Given the description of an element on the screen output the (x, y) to click on. 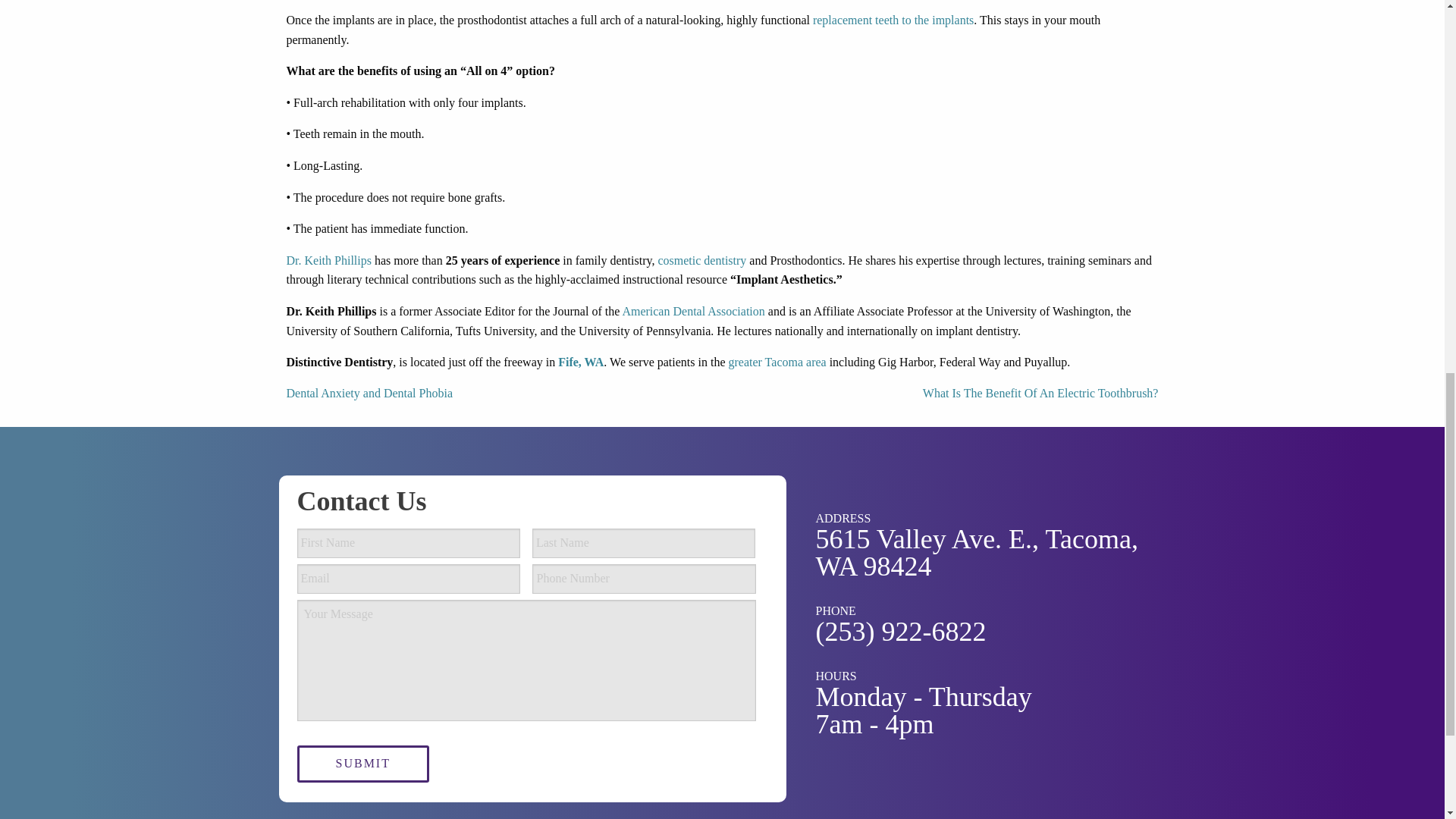
Submit (363, 763)
